Given the description of an element on the screen output the (x, y) to click on. 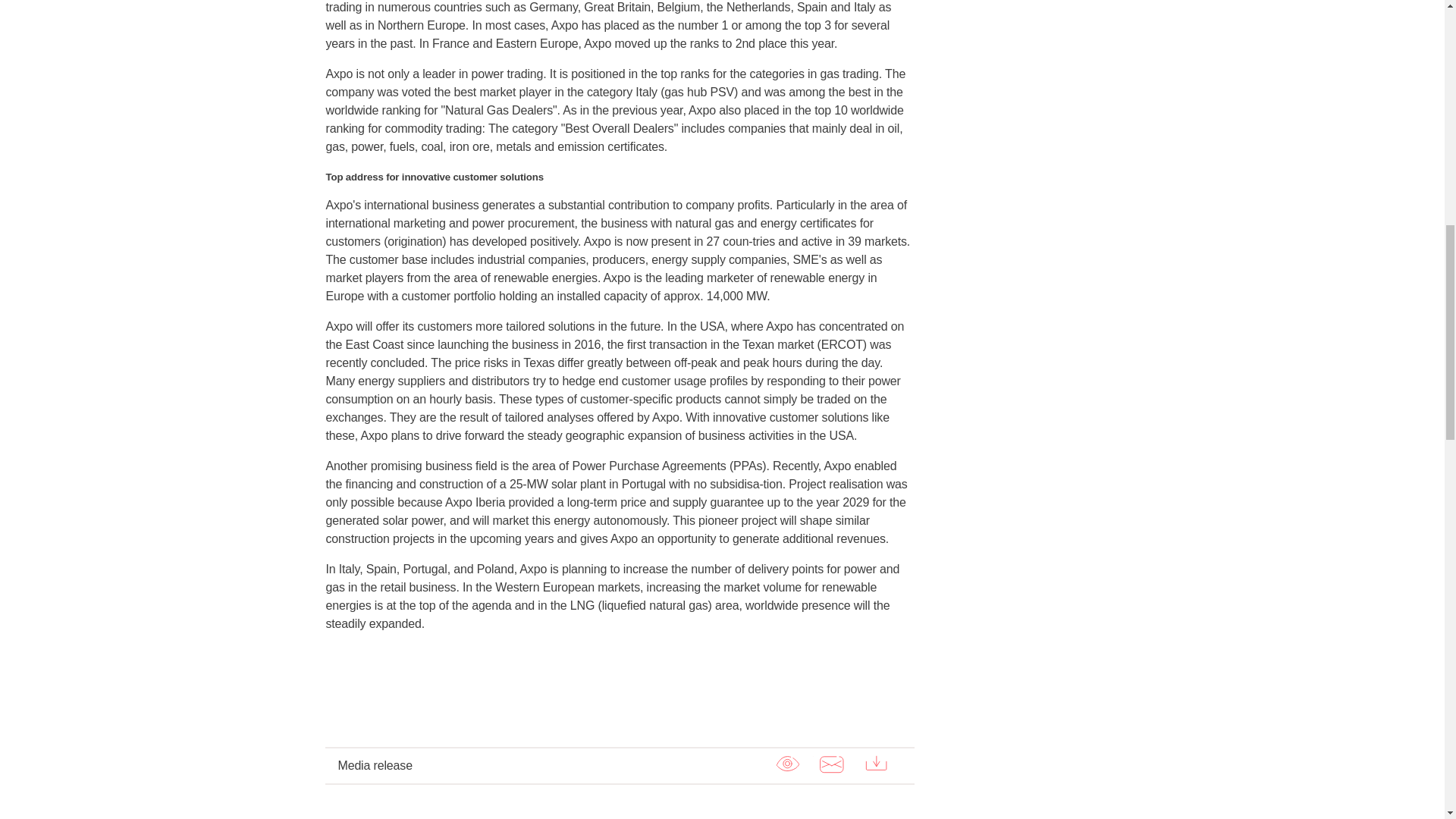
Send email (831, 763)
